Given the description of an element on the screen output the (x, y) to click on. 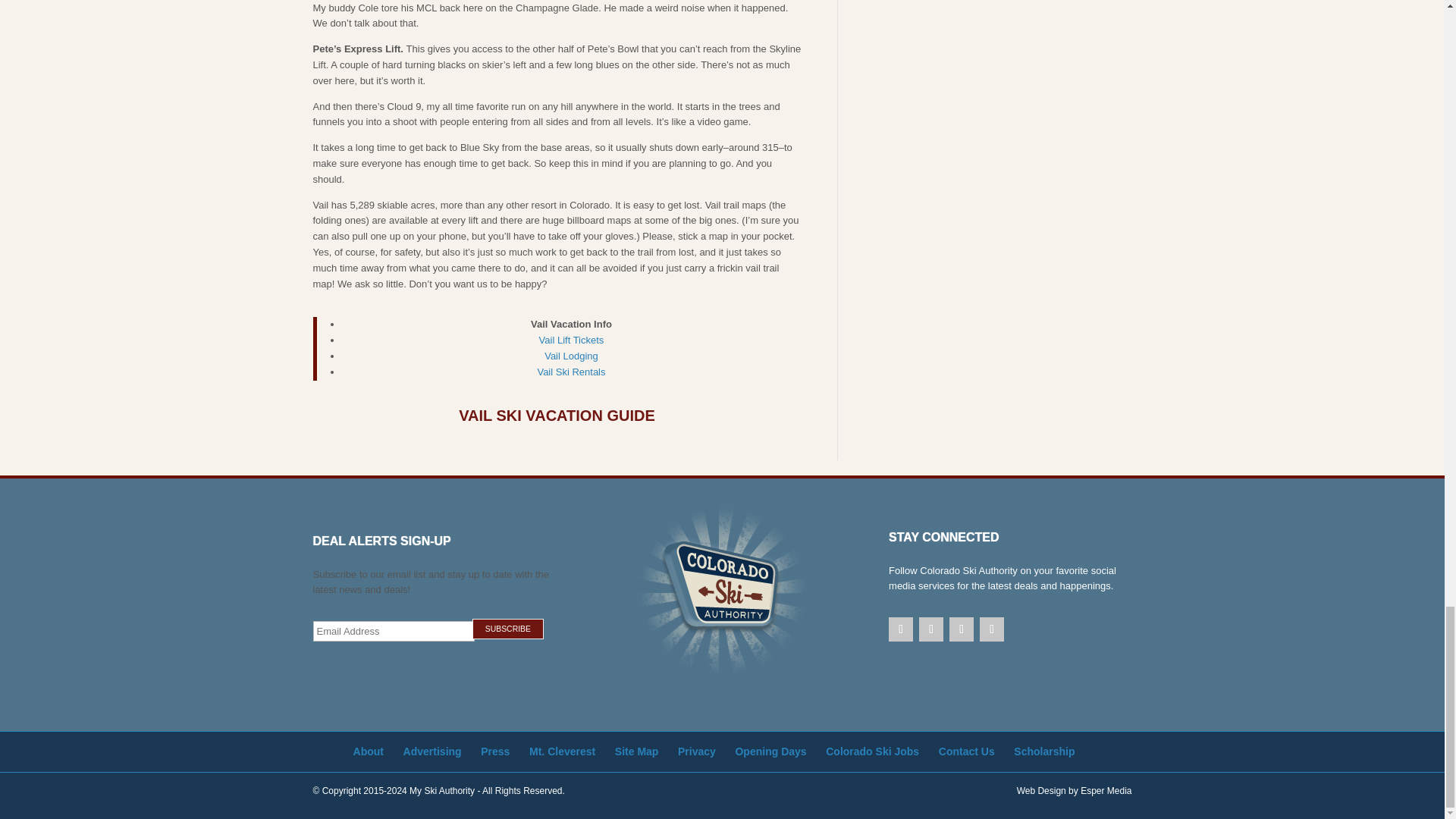
Subscribe (507, 629)
